Given the description of an element on the screen output the (x, y) to click on. 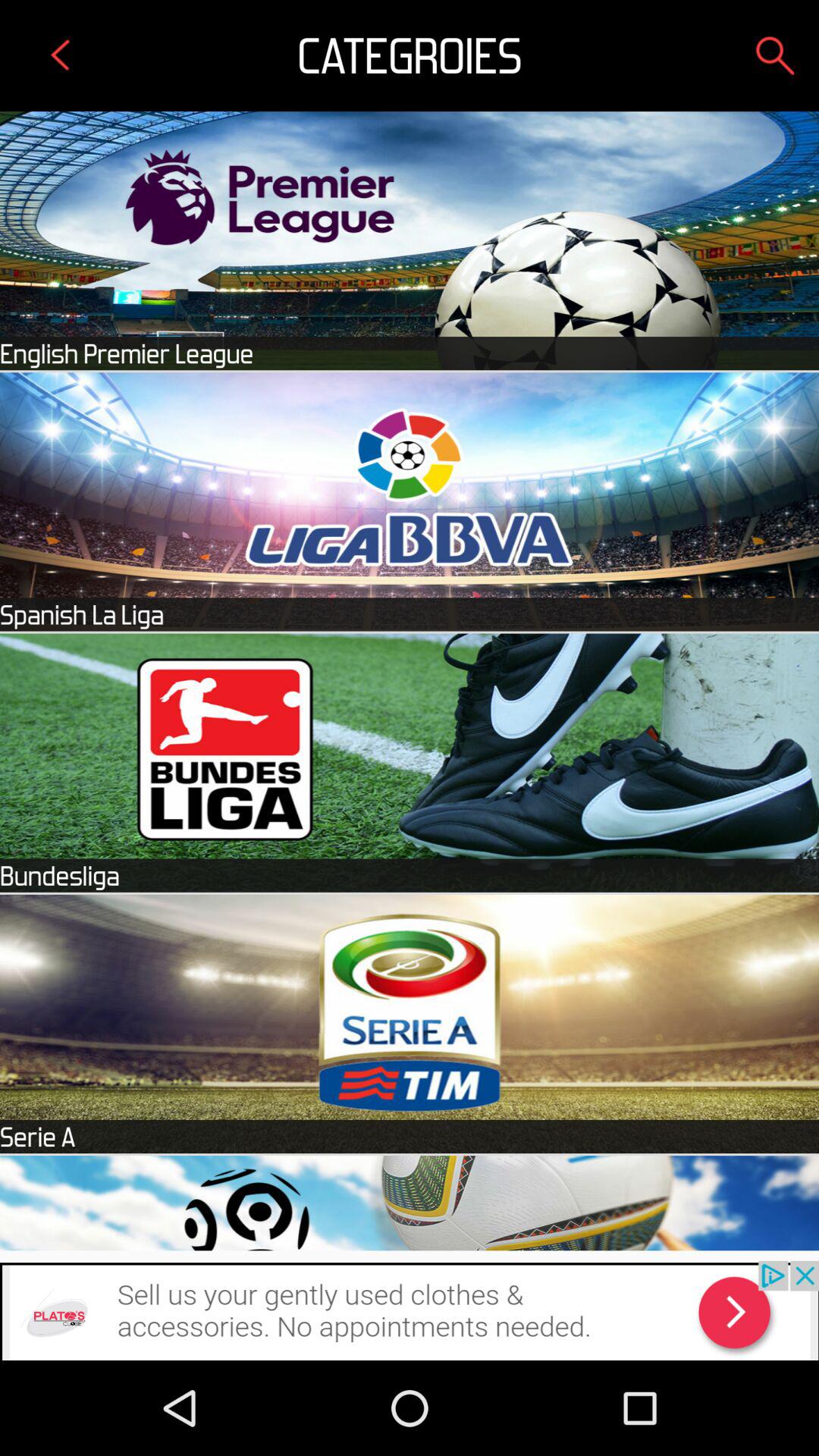
see advertisement (409, 1310)
